Given the description of an element on the screen output the (x, y) to click on. 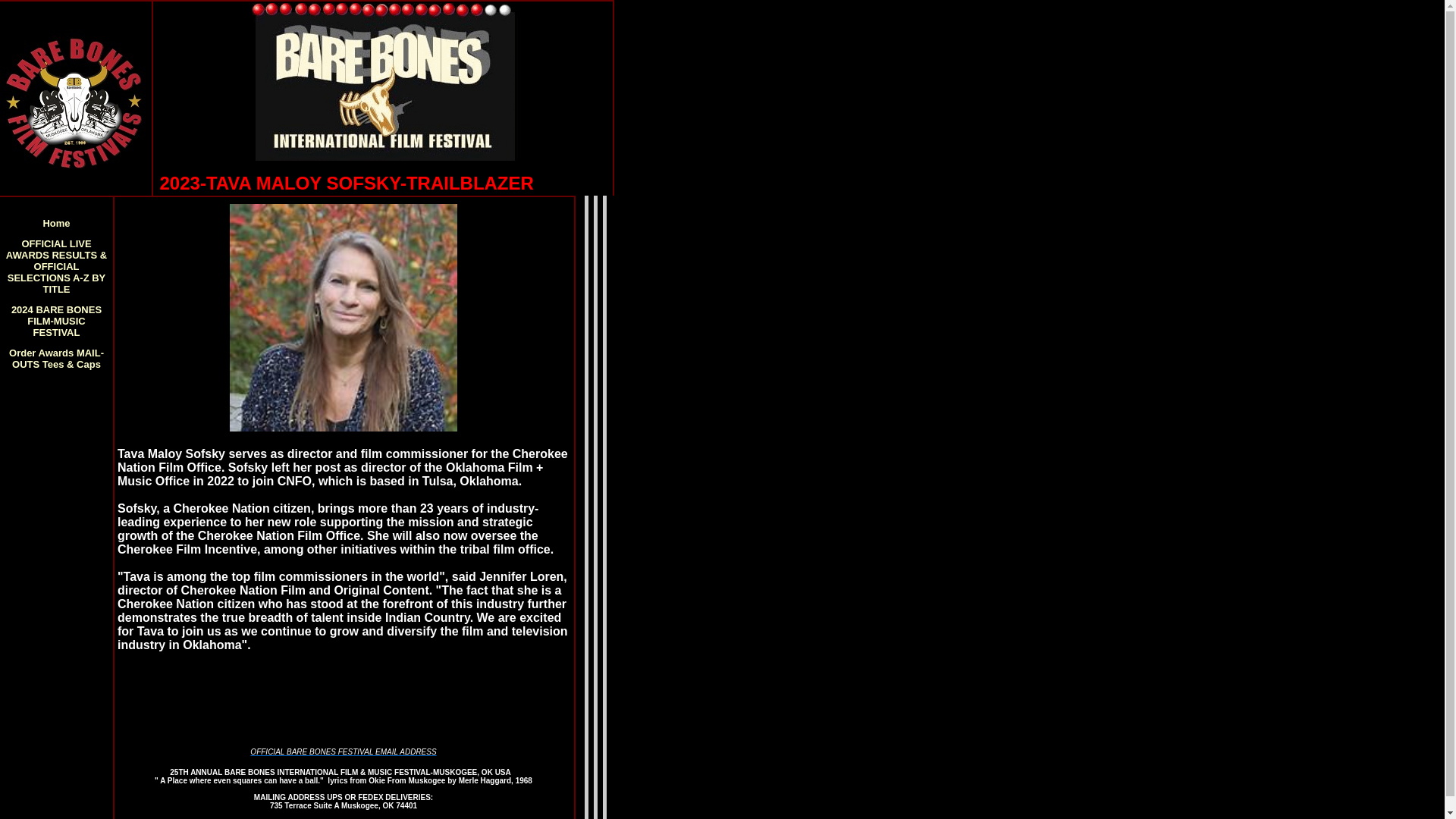
Home (55, 222)
OFFICIAL BARE BONES FESTIVAL EMAIL ADDRESS (342, 751)
2024 BARE BONES FILM-MUSIC FESTIVAL (56, 320)
